Given the description of an element on the screen output the (x, y) to click on. 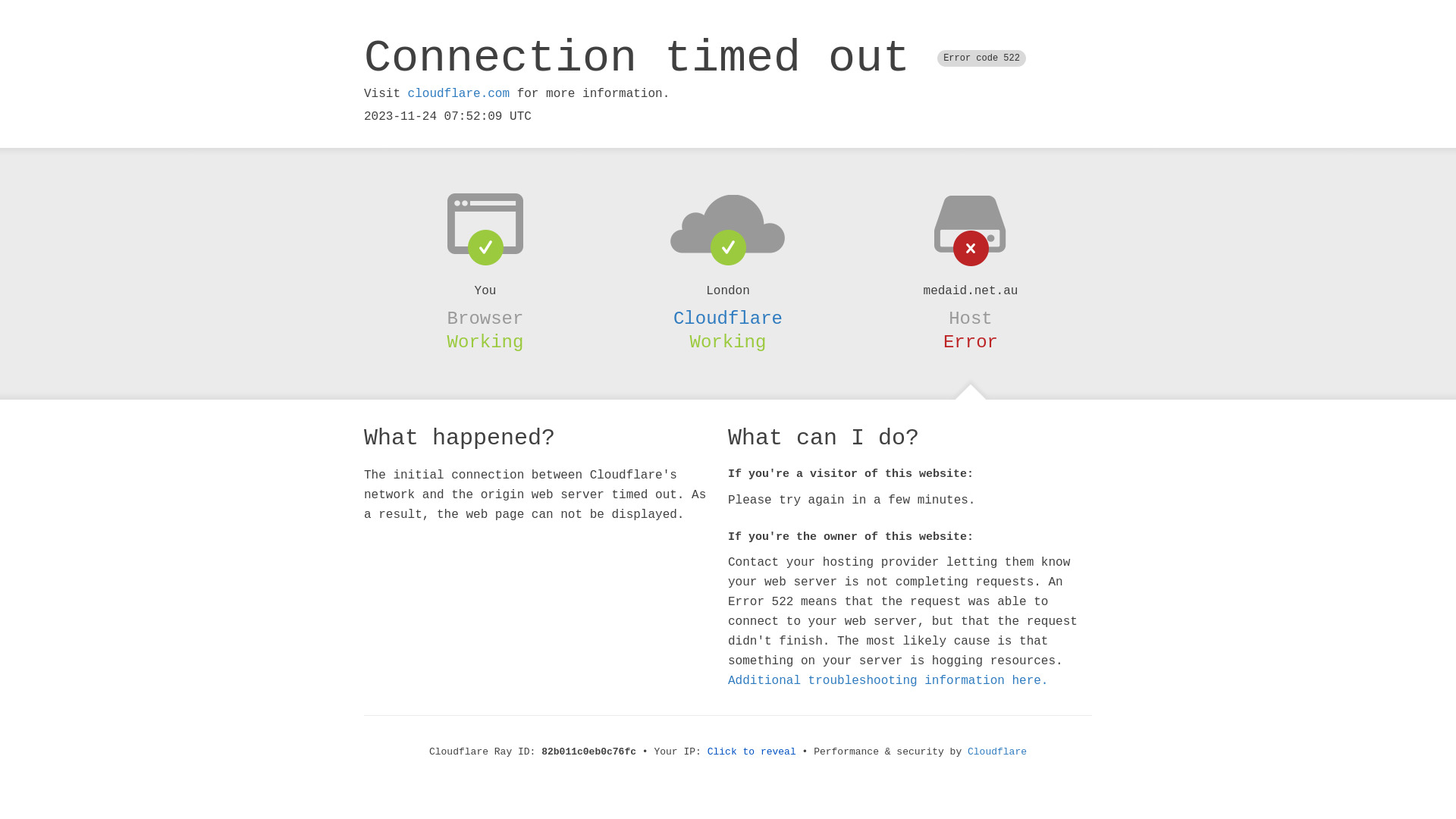
Click to reveal Element type: text (751, 751)
Cloudflare Element type: text (996, 751)
Additional troubleshooting information here. Element type: text (888, 680)
Cloudflare Element type: text (727, 318)
cloudflare.com Element type: text (458, 93)
